Given the description of an element on the screen output the (x, y) to click on. 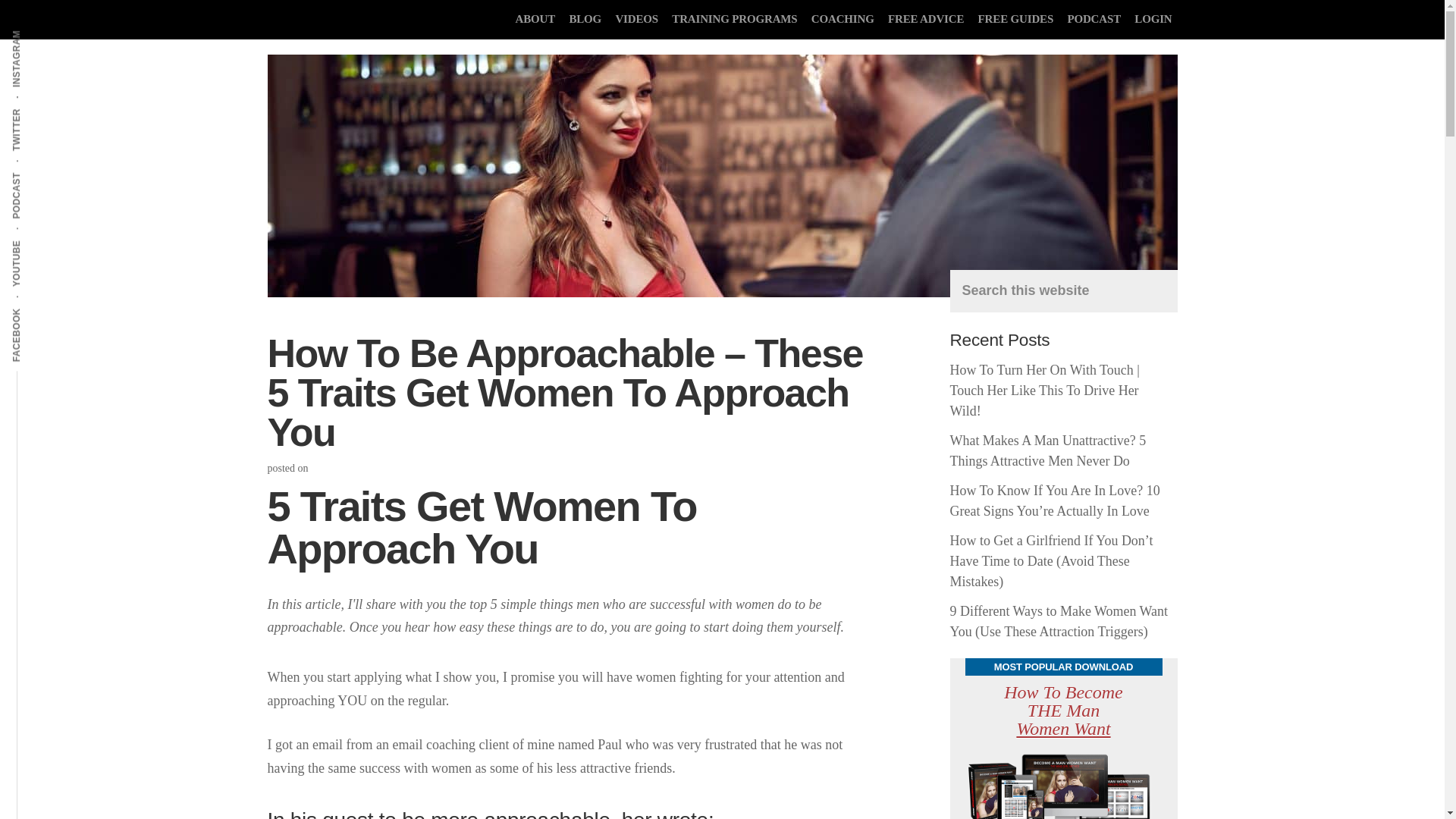
FREE ADVICE (925, 18)
INSTAGRAM (46, 28)
FREE GUIDES (1015, 18)
PODCAST (41, 170)
COACHING (842, 18)
LOGIN (1152, 18)
BLOG (585, 18)
